Given the description of an element on the screen output the (x, y) to click on. 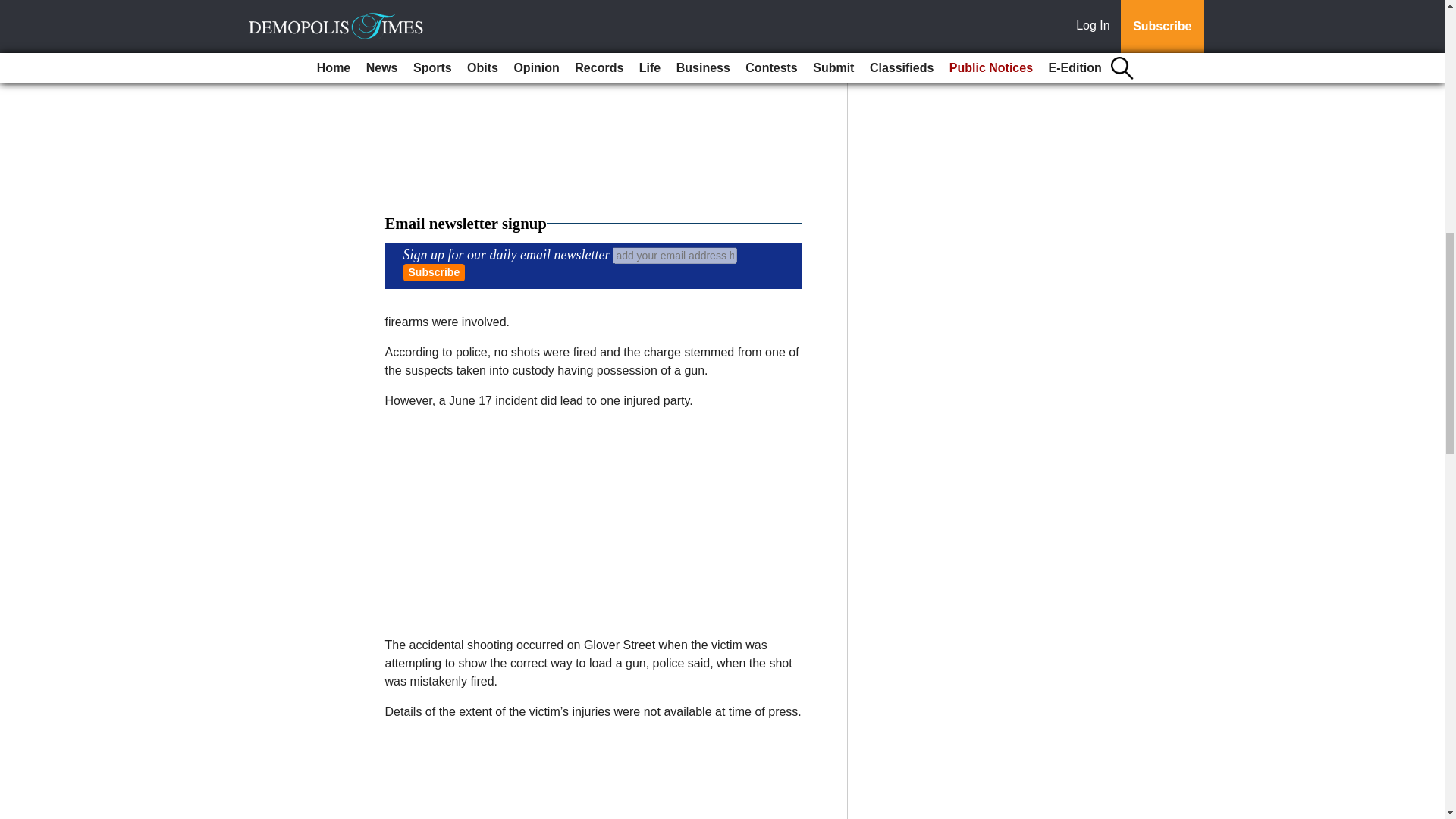
Subscribe (434, 272)
Subscribe (434, 272)
